Given the description of an element on the screen output the (x, y) to click on. 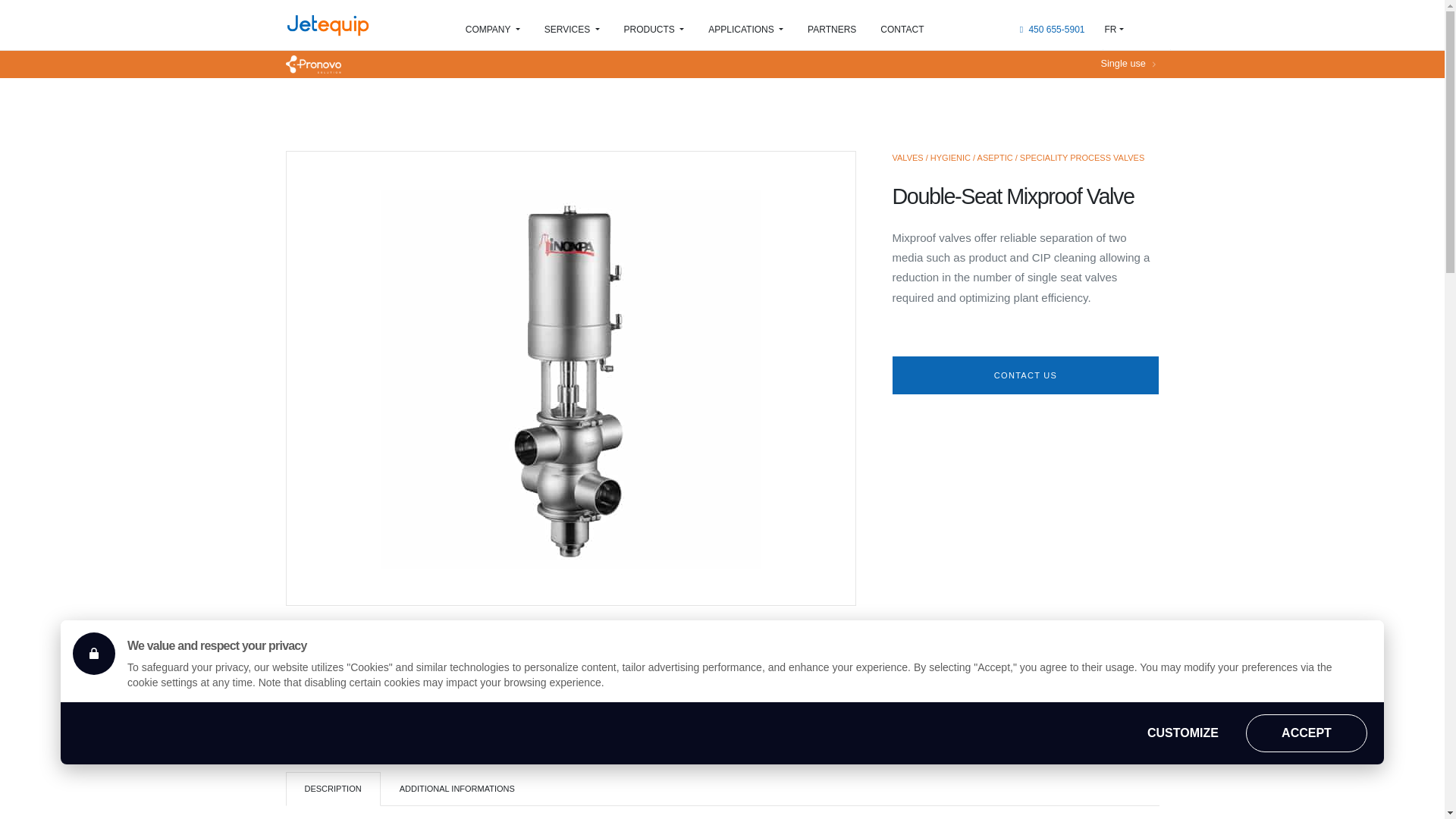
PRODUCTS (654, 29)
SERVICES (571, 29)
COMPANY (492, 29)
Skip to the content (47, 9)
English (1136, 29)
